Given the description of an element on the screen output the (x, y) to click on. 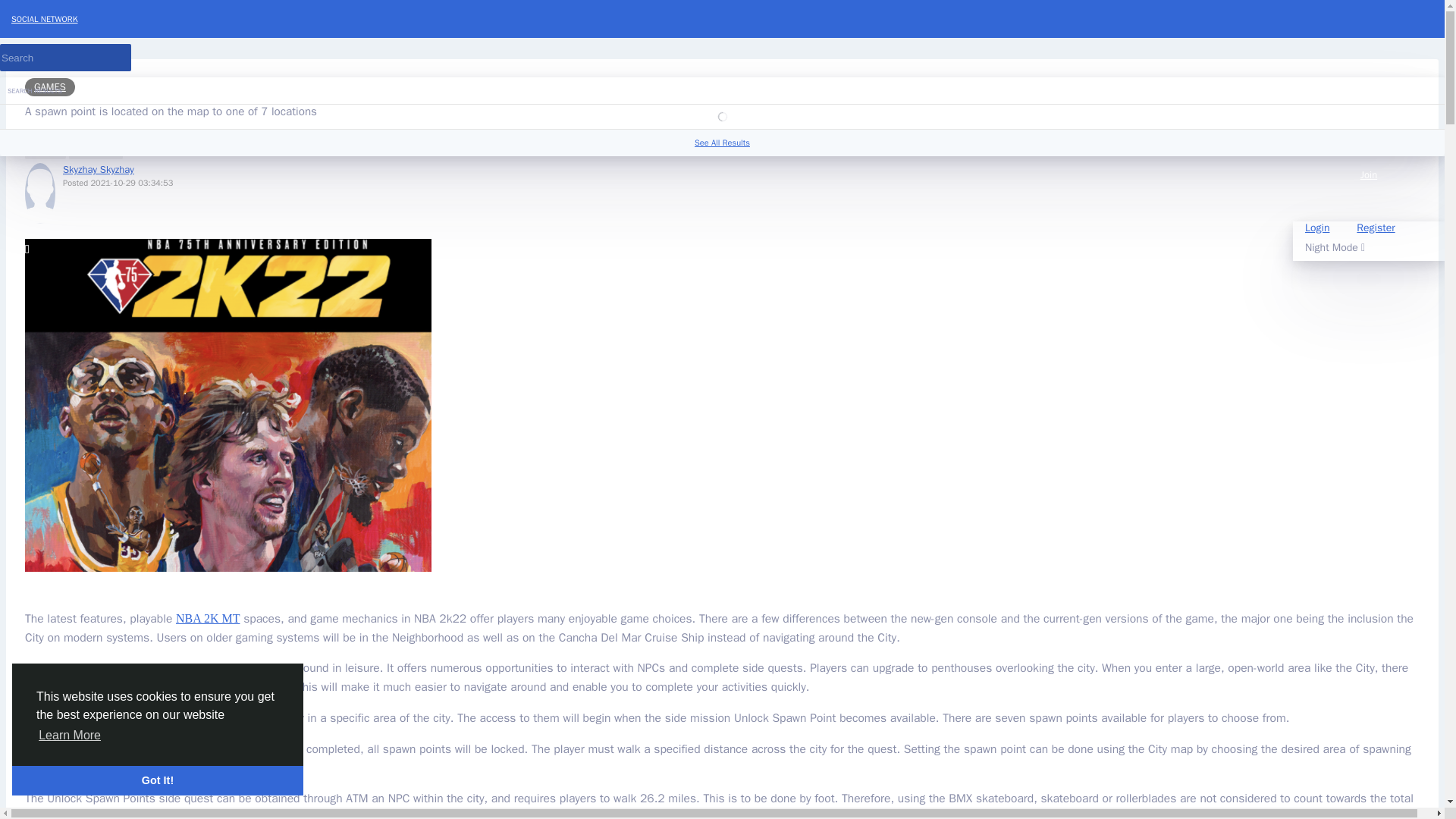
Register (1374, 227)
Skyzhay Skyzhay (97, 169)
Got It! (156, 780)
NBA 2K MT (208, 617)
Join (1368, 188)
See All Results (722, 142)
Login (1316, 227)
GAMES (49, 86)
Learn More (69, 734)
0 (44, 146)
SOCIAL NETWORK (727, 18)
